Given the description of an element on the screen output the (x, y) to click on. 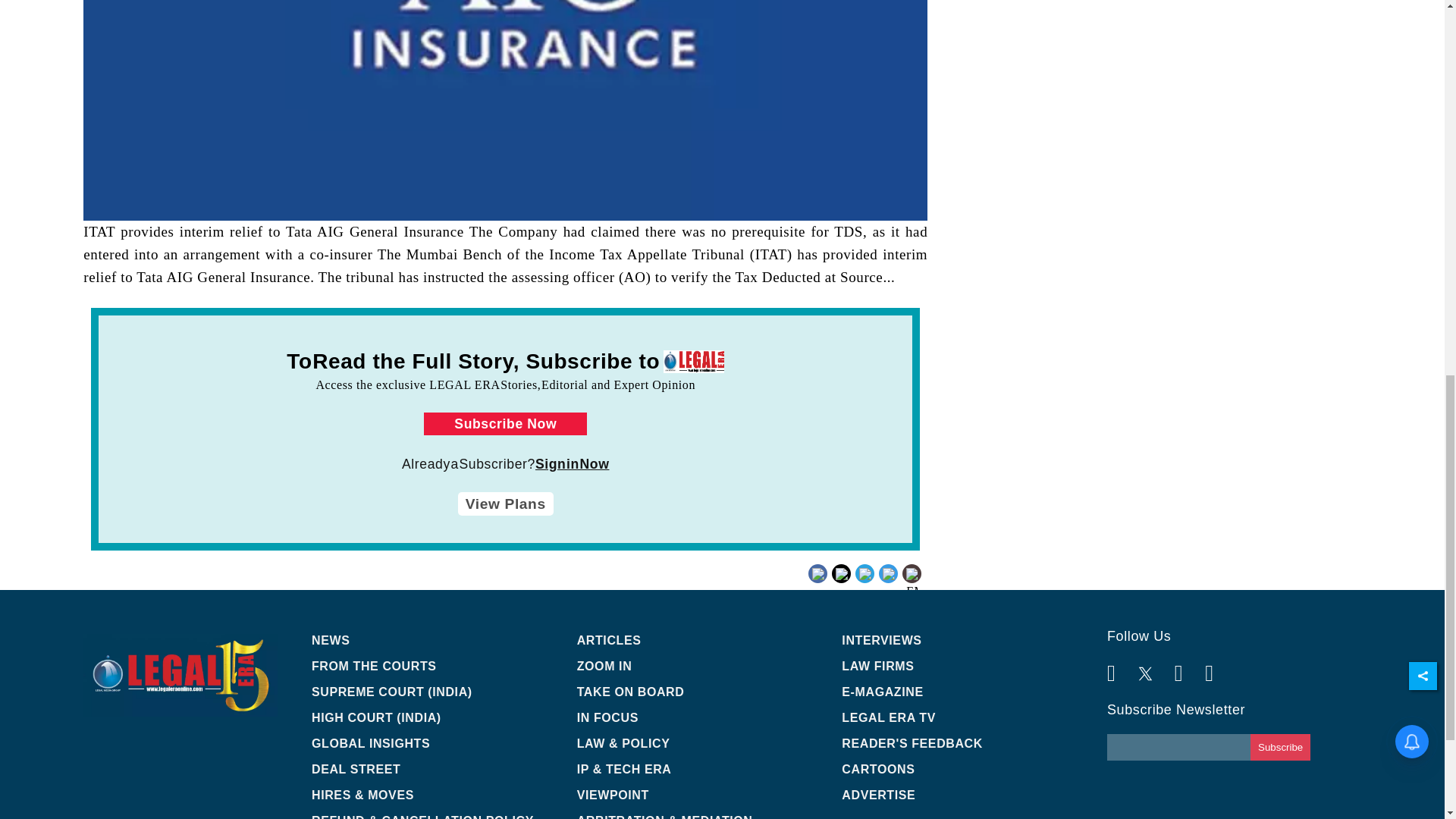
twitter (863, 585)
Subscribe (1280, 746)
facebook (846, 585)
Facebook (845, 571)
LinkedIn (890, 571)
Twitter (863, 571)
